Given the description of an element on the screen output the (x, y) to click on. 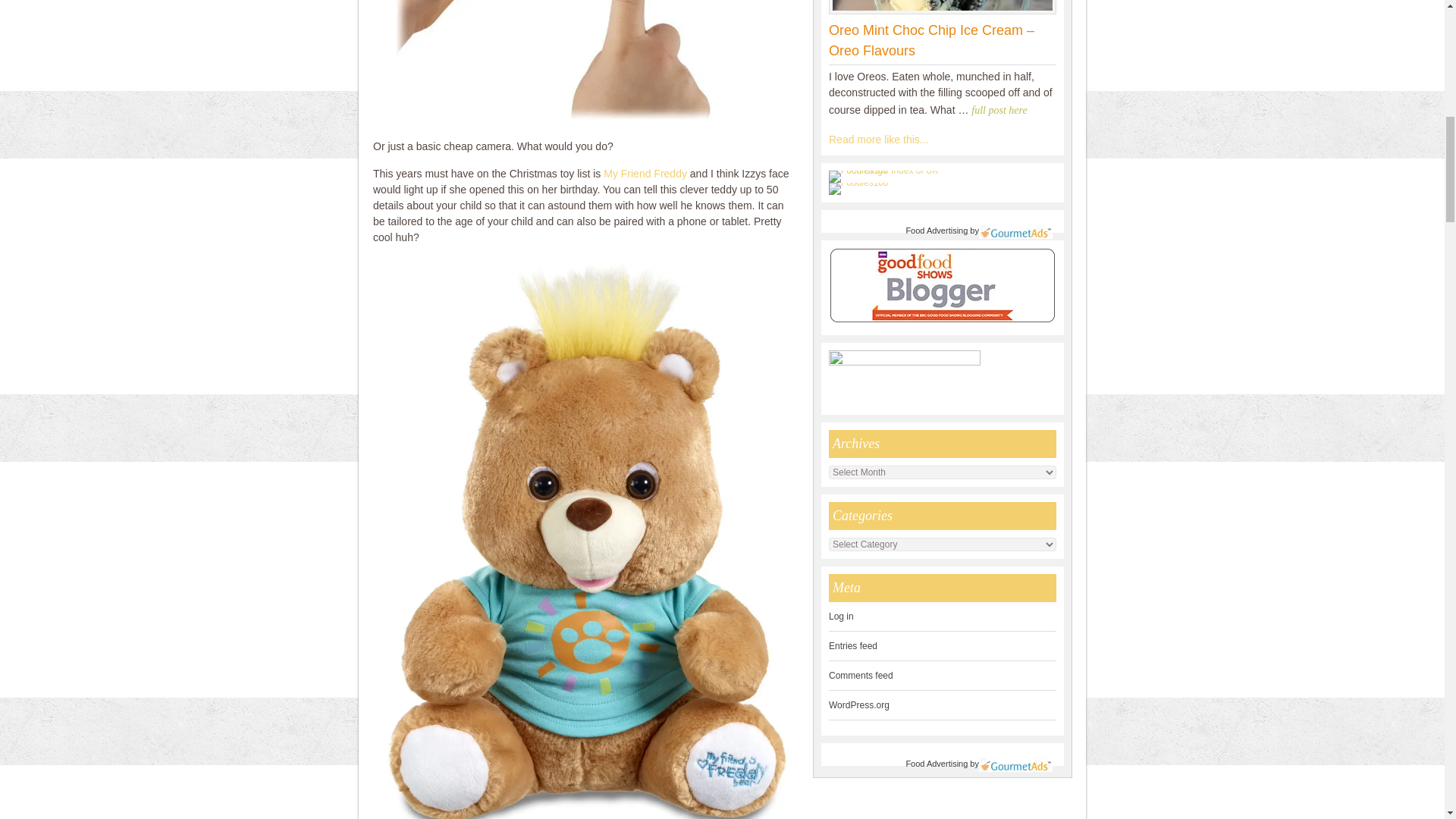
Foodies100 (858, 188)
Food Advertising (936, 763)
Recipe Development (878, 139)
Foodies100 Index of UK Food Blogs (890, 170)
My Friend Freddy (647, 173)
Foodies100 (858, 182)
Foodies100 Index of UK Food Blogs (890, 176)
Food Advertising (936, 230)
